Given the description of an element on the screen output the (x, y) to click on. 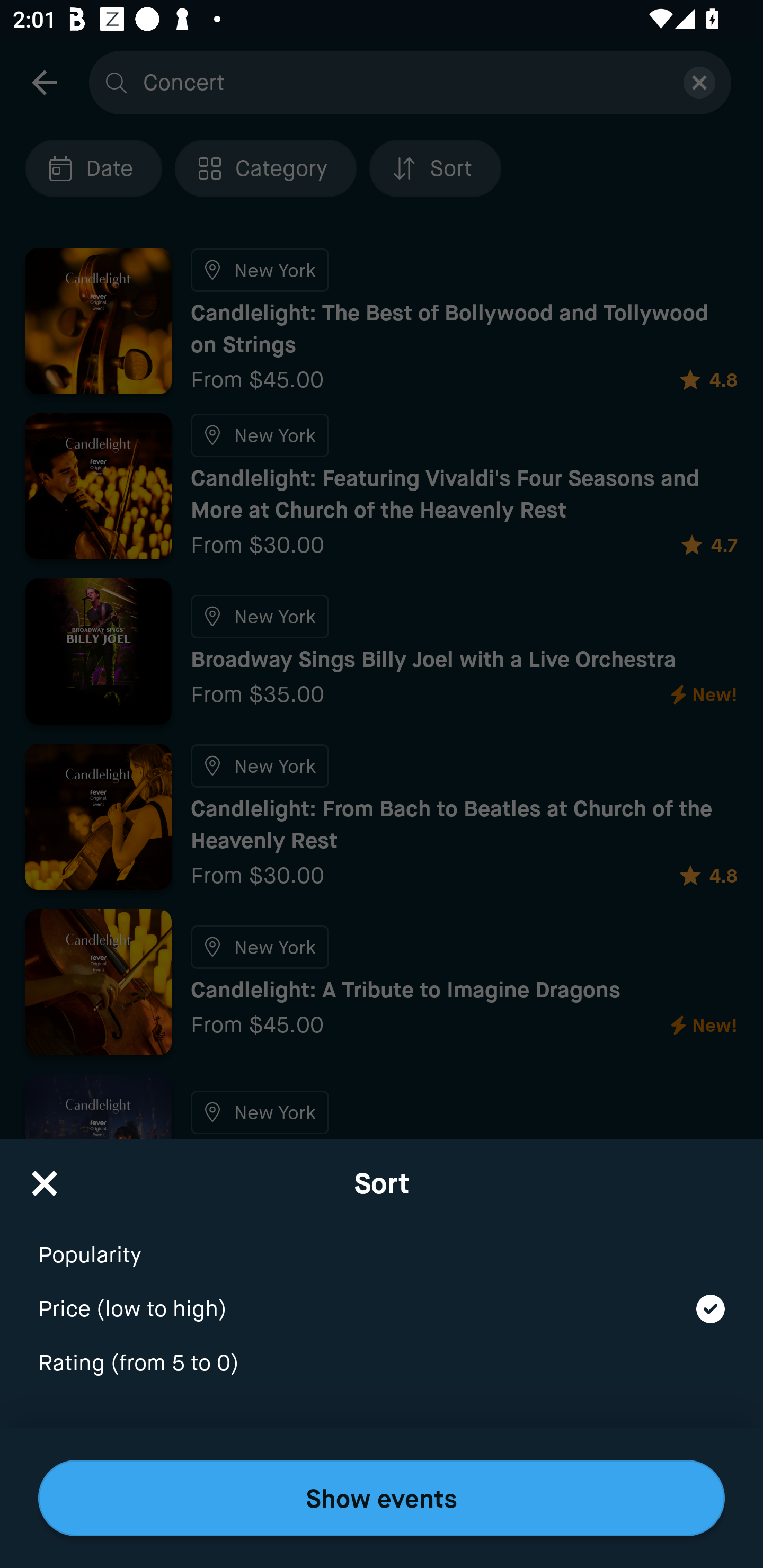
CloseButton (44, 1177)
Popularity (381, 1243)
Price (low to high) Selected Icon (381, 1297)
Rating (from 5 to 0) (381, 1362)
Show events (381, 1497)
